Given the description of an element on the screen output the (x, y) to click on. 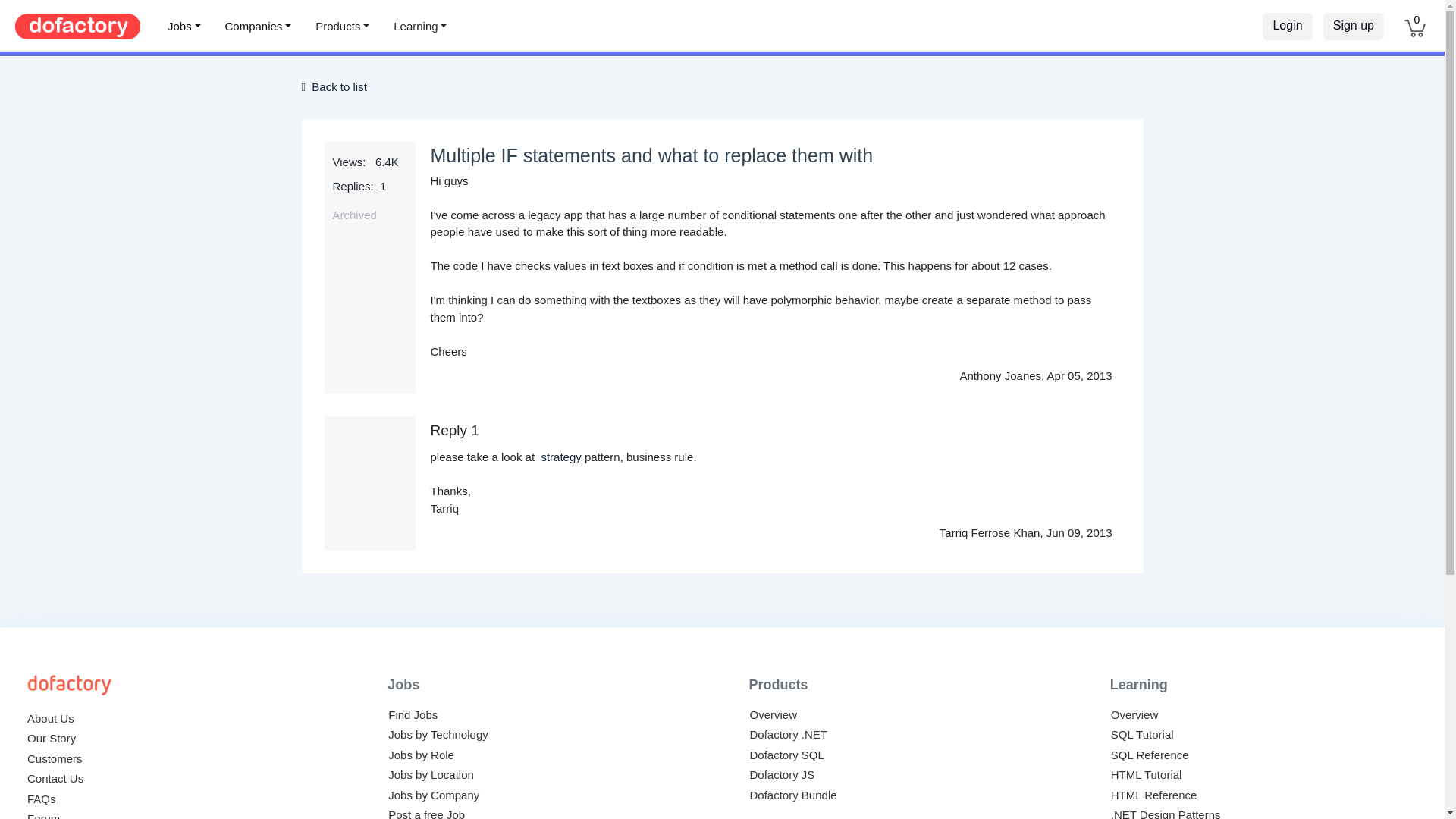
Sign up (1353, 26)
About Us (50, 717)
strategy (560, 456)
Jobs (183, 26)
Back to list (338, 86)
Companies (257, 26)
Forum (43, 815)
Cart (1415, 27)
0 (1415, 25)
Learning (419, 26)
Products (341, 26)
Contact Us (54, 778)
Cart (1416, 19)
Our Story (51, 738)
Login (1286, 26)
